Given the description of an element on the screen output the (x, y) to click on. 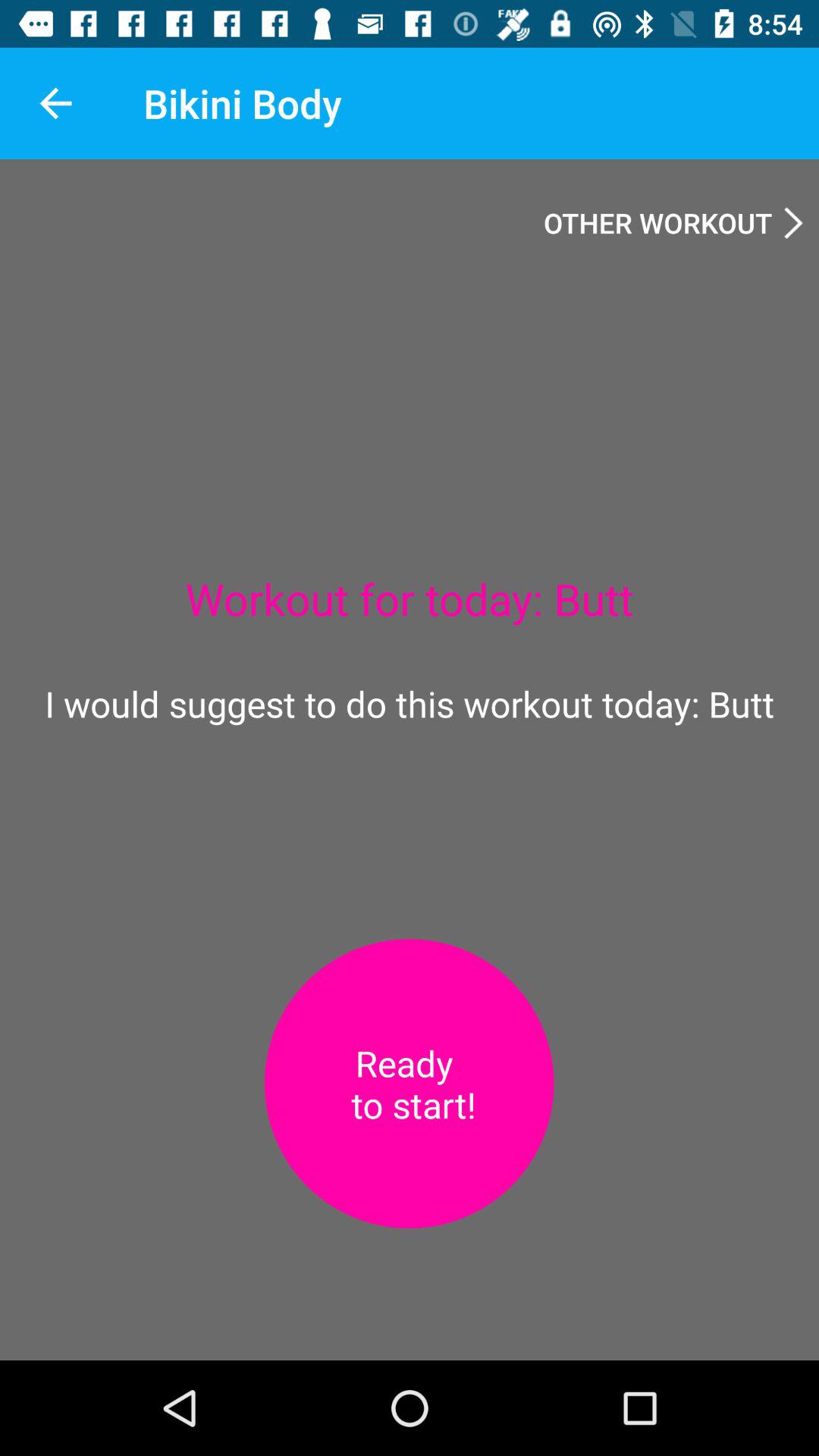
click the app to the left of the bikini body (55, 103)
